Given the description of an element on the screen output the (x, y) to click on. 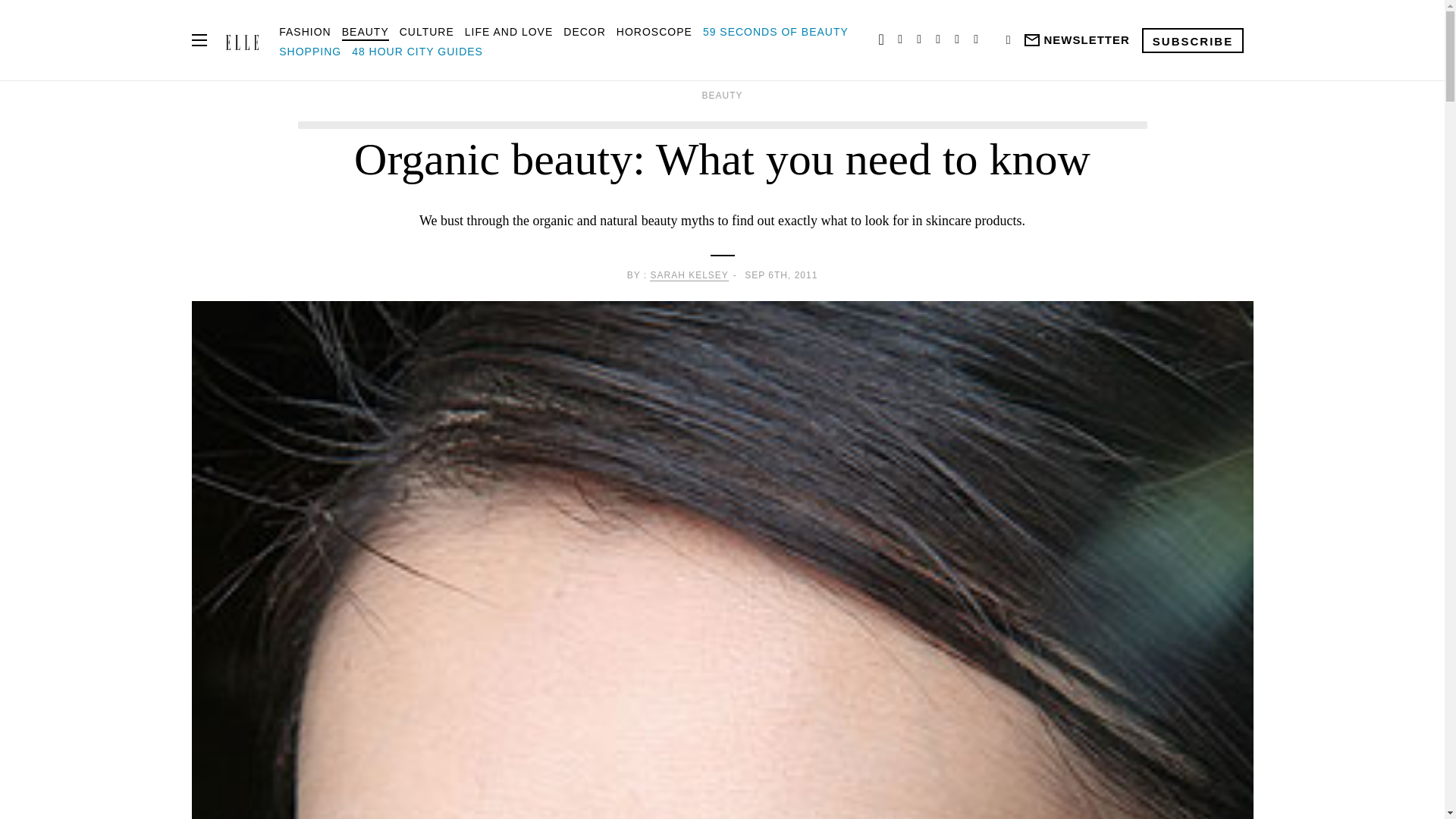
NEWSLETTER (1075, 40)
FASHION (304, 31)
SARAH KELSEY (688, 275)
SUBSCRIBE (1192, 39)
LIFE AND LOVE (508, 31)
48 HOUR CITY GUIDES (417, 51)
DECOR (584, 31)
BEAUTY (365, 31)
CULTURE (426, 31)
59 SECONDS OF BEAUTY (775, 31)
